Given the description of an element on the screen output the (x, y) to click on. 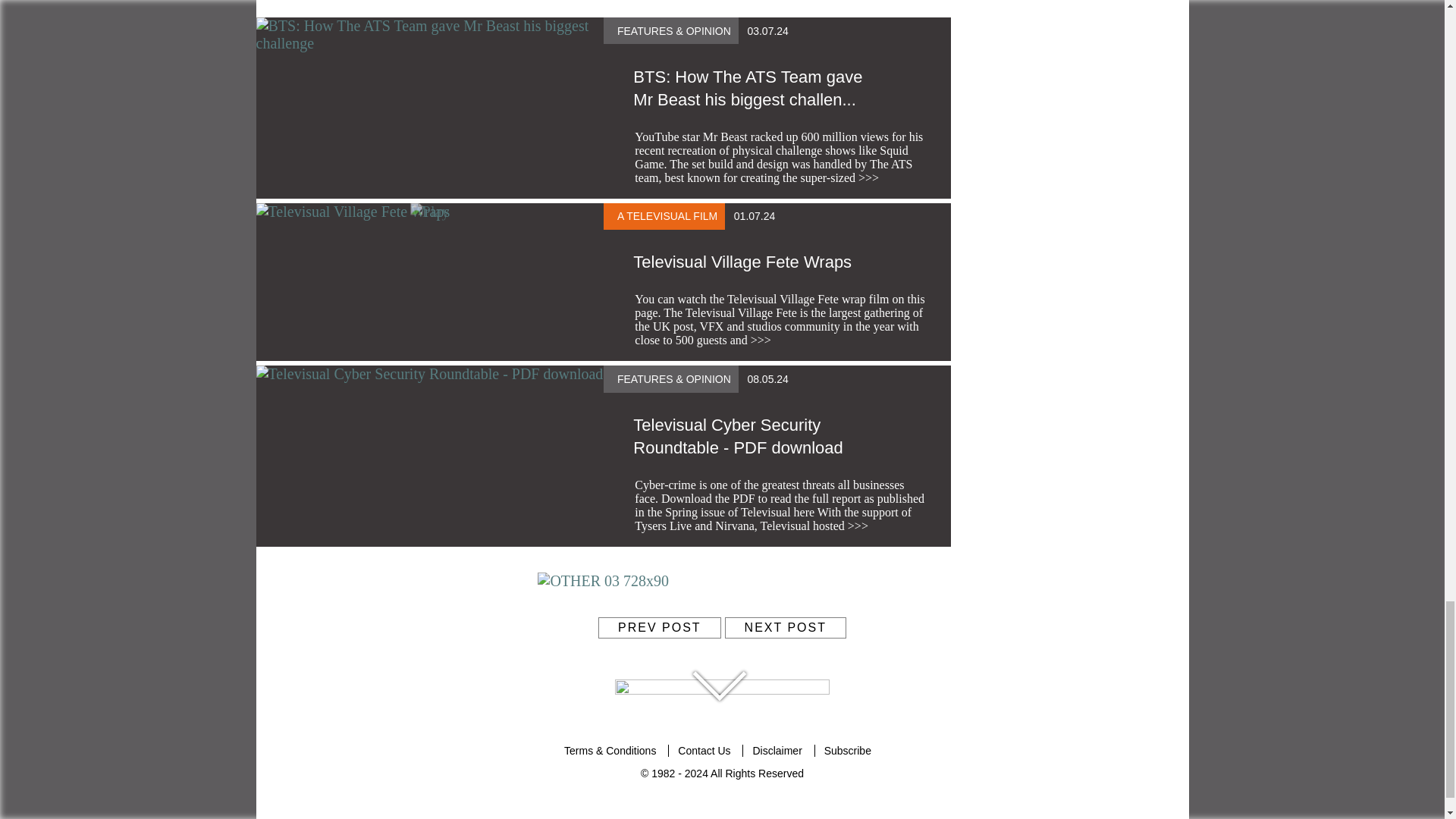
televisual-logo (721, 692)
